Given the description of an element on the screen output the (x, y) to click on. 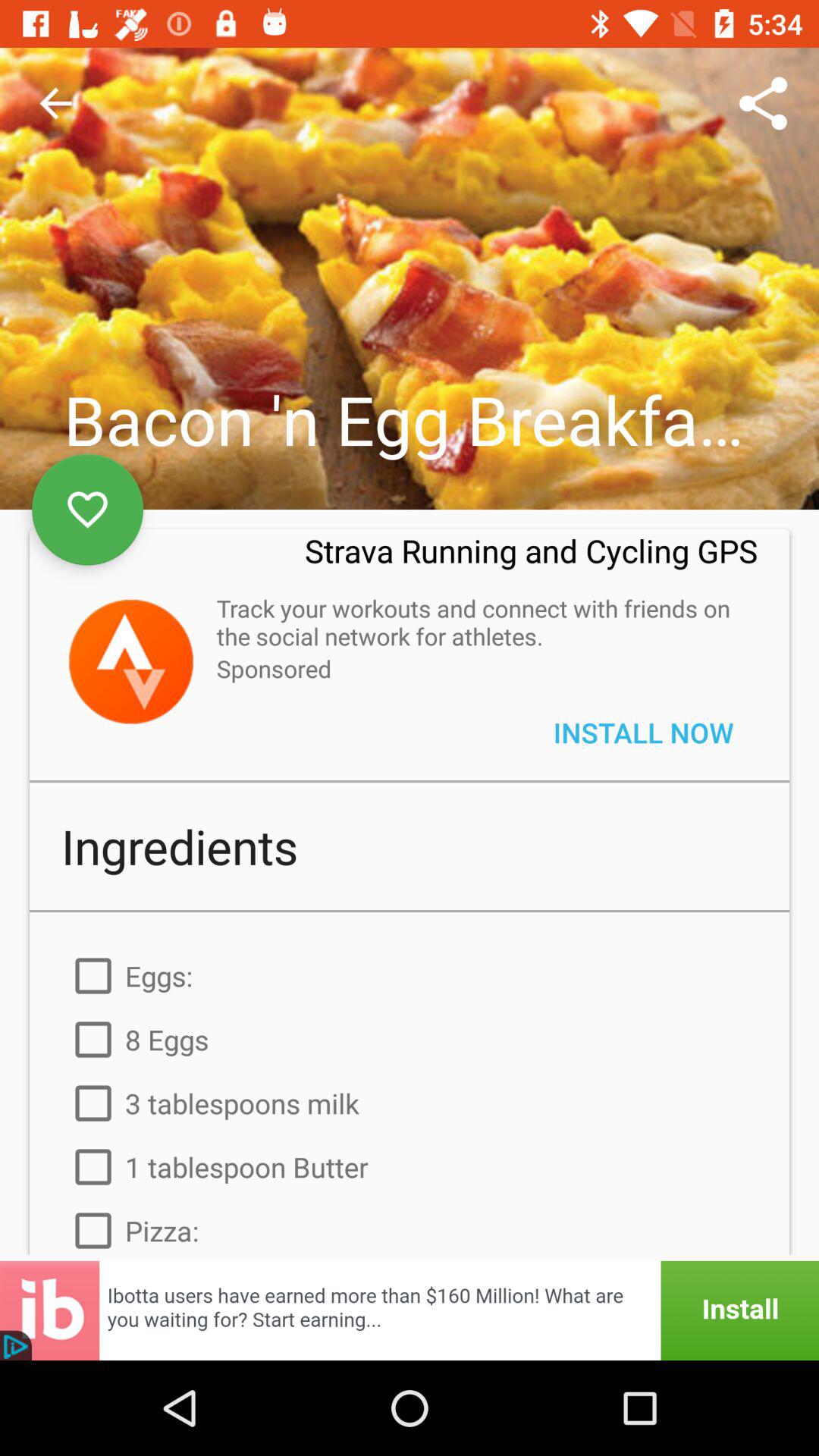
launch item above the 8 eggs (409, 975)
